Given the description of an element on the screen output the (x, y) to click on. 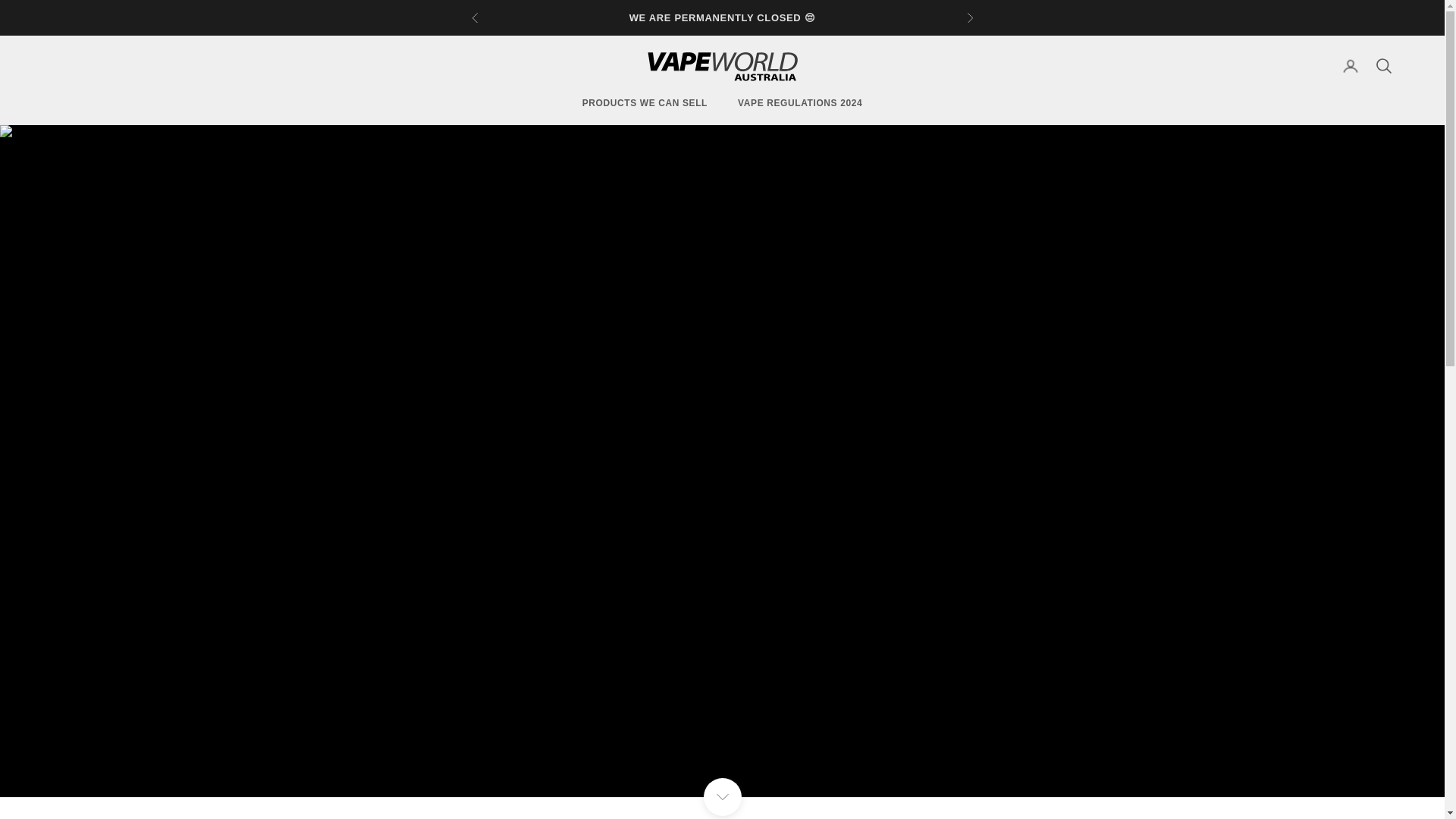
Navigate to next section (722, 796)
Products we can sell (644, 102)
Account (1349, 65)
Search (1383, 65)
Vape Regulations 2024 (799, 102)
Vape World Australia (721, 65)
Open account page (1349, 65)
Open search (1383, 65)
Next (968, 17)
Vape World Australia (721, 65)
Previous (474, 17)
VAPE REGULATIONS 2024 (799, 102)
